Given the description of an element on the screen output the (x, y) to click on. 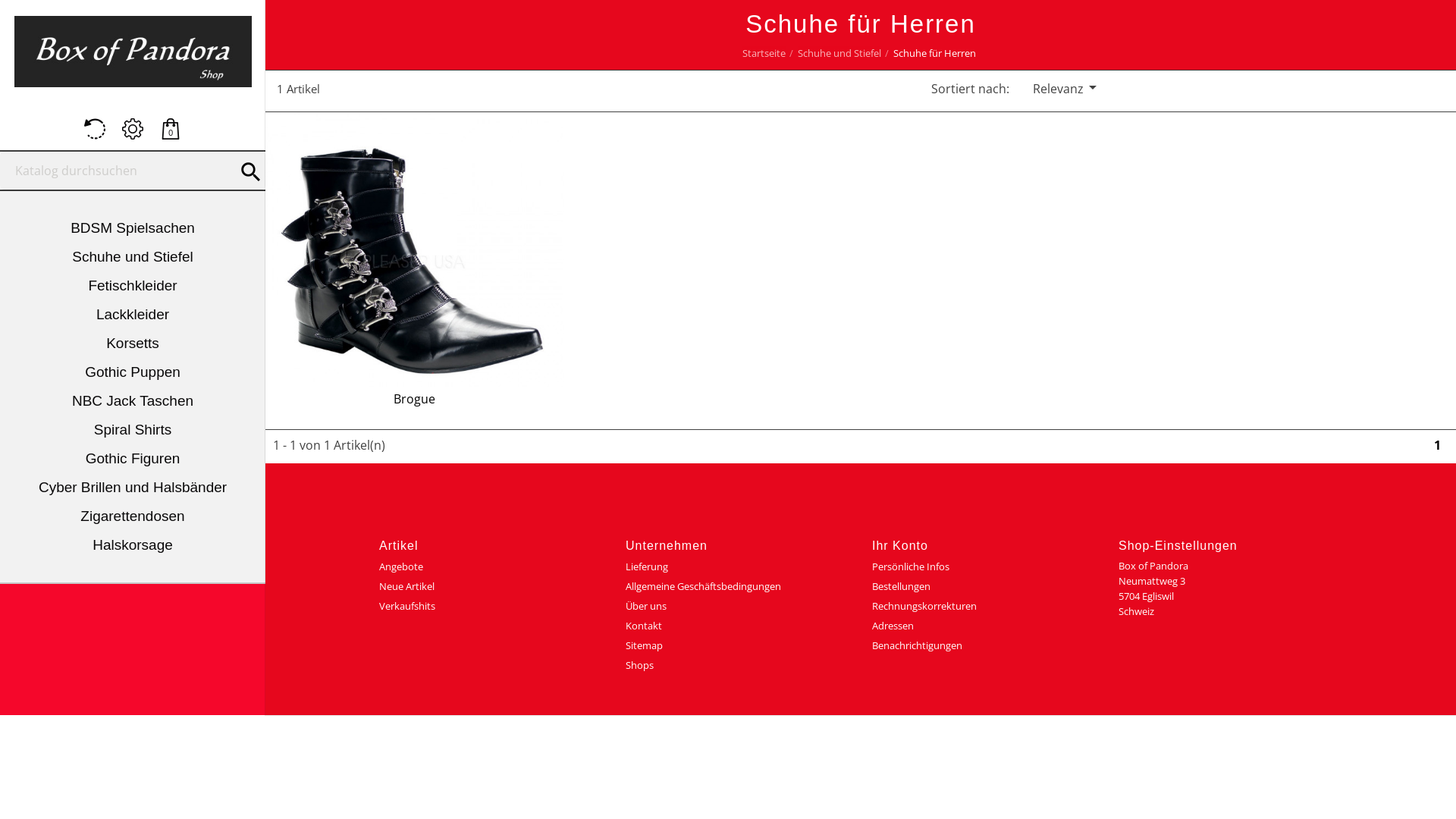
Startseite Element type: text (763, 52)
Zigarettendosen Element type: text (132, 516)
Brogue Element type: text (414, 398)
Benachrichtigungen Element type: text (917, 645)
Ihr Konto Element type: text (900, 545)
Shops Element type: text (639, 664)
Sitemap Element type: text (643, 645)
NBC Jack Taschen Element type: text (132, 400)
BDSM Spielsachen Element type: text (132, 227)
Neue Artikel Element type: text (406, 586)
Fetischkleider Element type: text (132, 285)
Spiral Shirts Element type: text (132, 429)
Rechnungskorrekturen Element type: text (924, 605)
1 Element type: text (1437, 444)
Verkaufshits Element type: text (407, 605)
Gothic Figuren Element type: text (132, 458)
Schuhe und Stiefel Element type: text (132, 256)
Halskorsage Element type: text (132, 544)
Adressen Element type: text (892, 625)
Korsetts Element type: text (132, 343)
Lieferung Element type: text (646, 566)
Bestellungen Element type: text (901, 586)
Schuhe und Stiefel Element type: text (839, 52)
Lackkleider Element type: text (132, 314)
Gothic Puppen Element type: text (132, 371)
Angebote Element type: text (401, 566)
Kontakt Element type: text (643, 625)
